Given the description of an element on the screen output the (x, y) to click on. 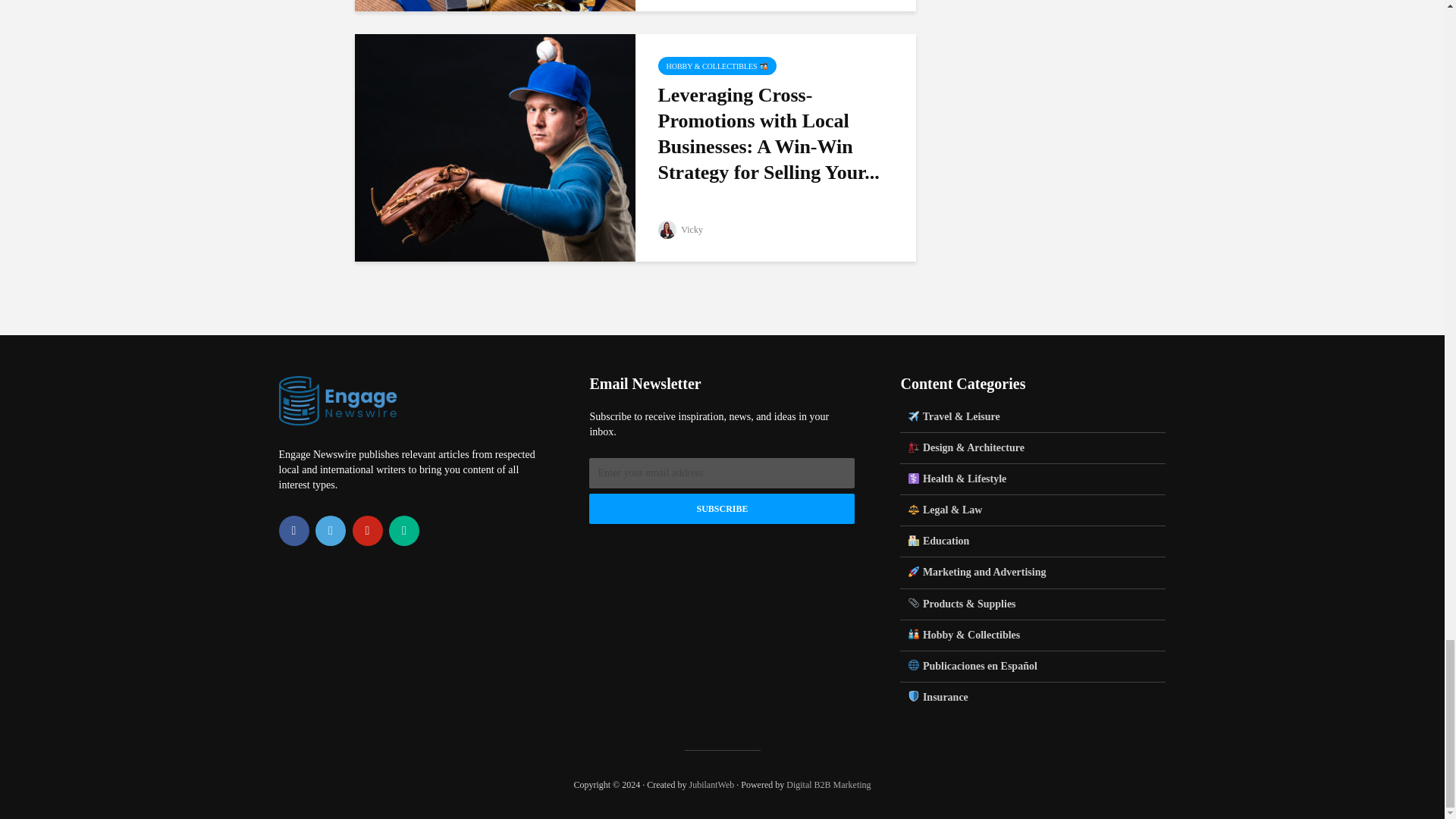
Subscribe (721, 508)
Subscribe (721, 508)
